Given the description of an element on the screen output the (x, y) to click on. 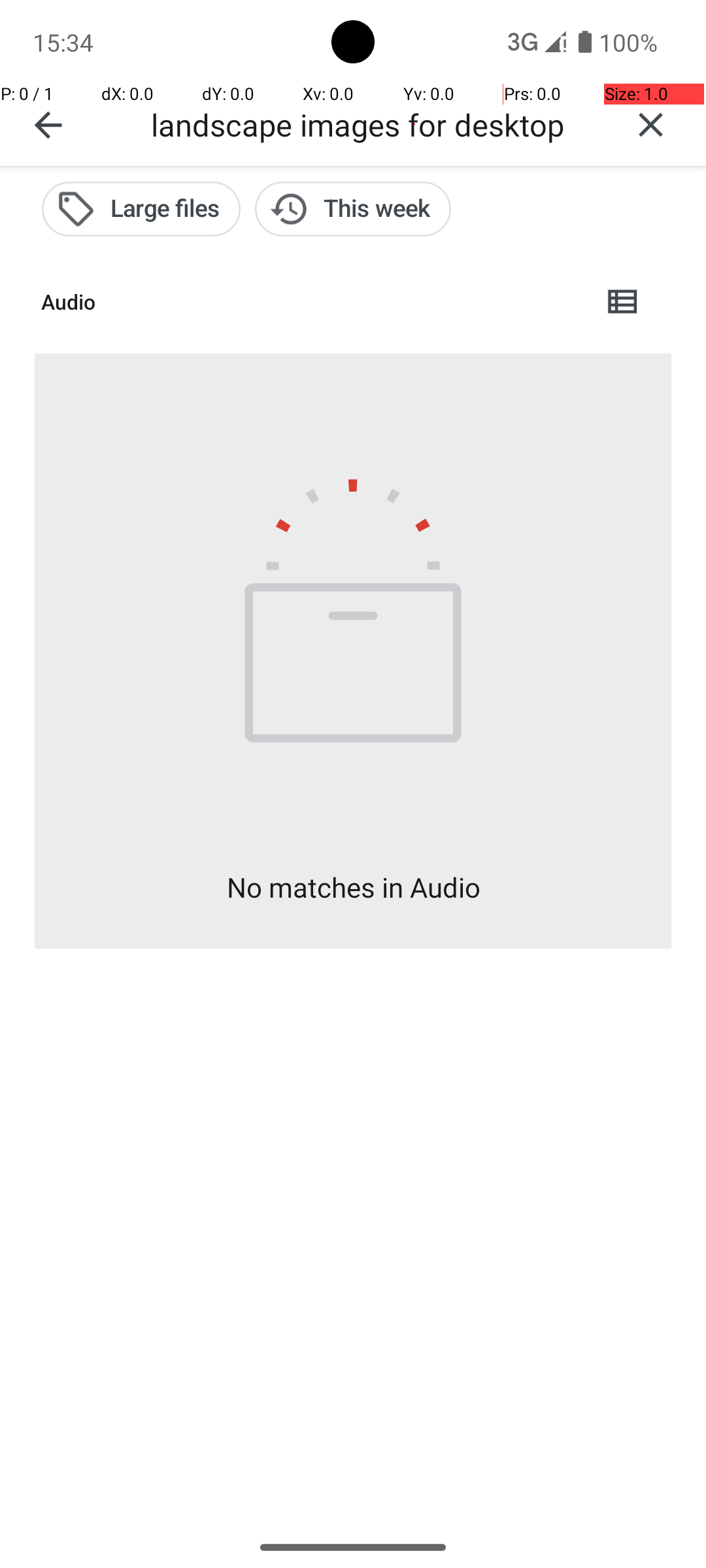
landscape images for desktop Element type: android.widget.AutoCompleteTextView (373, 124)
Clear query Element type: android.widget.ImageView (650, 124)
No matches in Audio Element type: android.widget.TextView (352, 886)
